Given the description of an element on the screen output the (x, y) to click on. 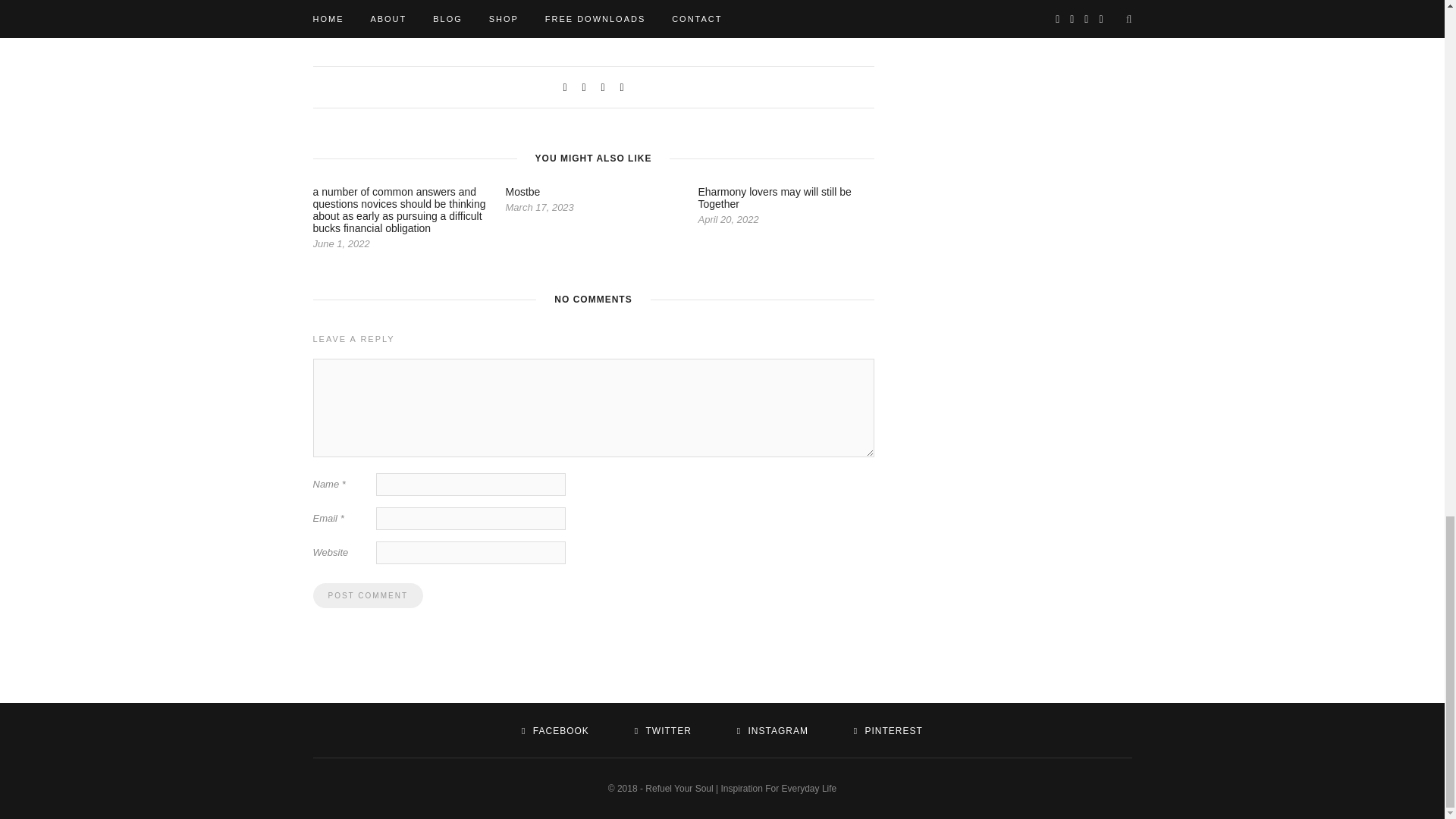
FACEBOOK (555, 730)
INSTAGRAM (772, 730)
Post Comment (367, 595)
TWITTER (662, 730)
Post Comment (367, 595)
Eharmony lovers may will still be Together (773, 197)
PINTEREST (888, 730)
Mostbe (522, 191)
